Given the description of an element on the screen output the (x, y) to click on. 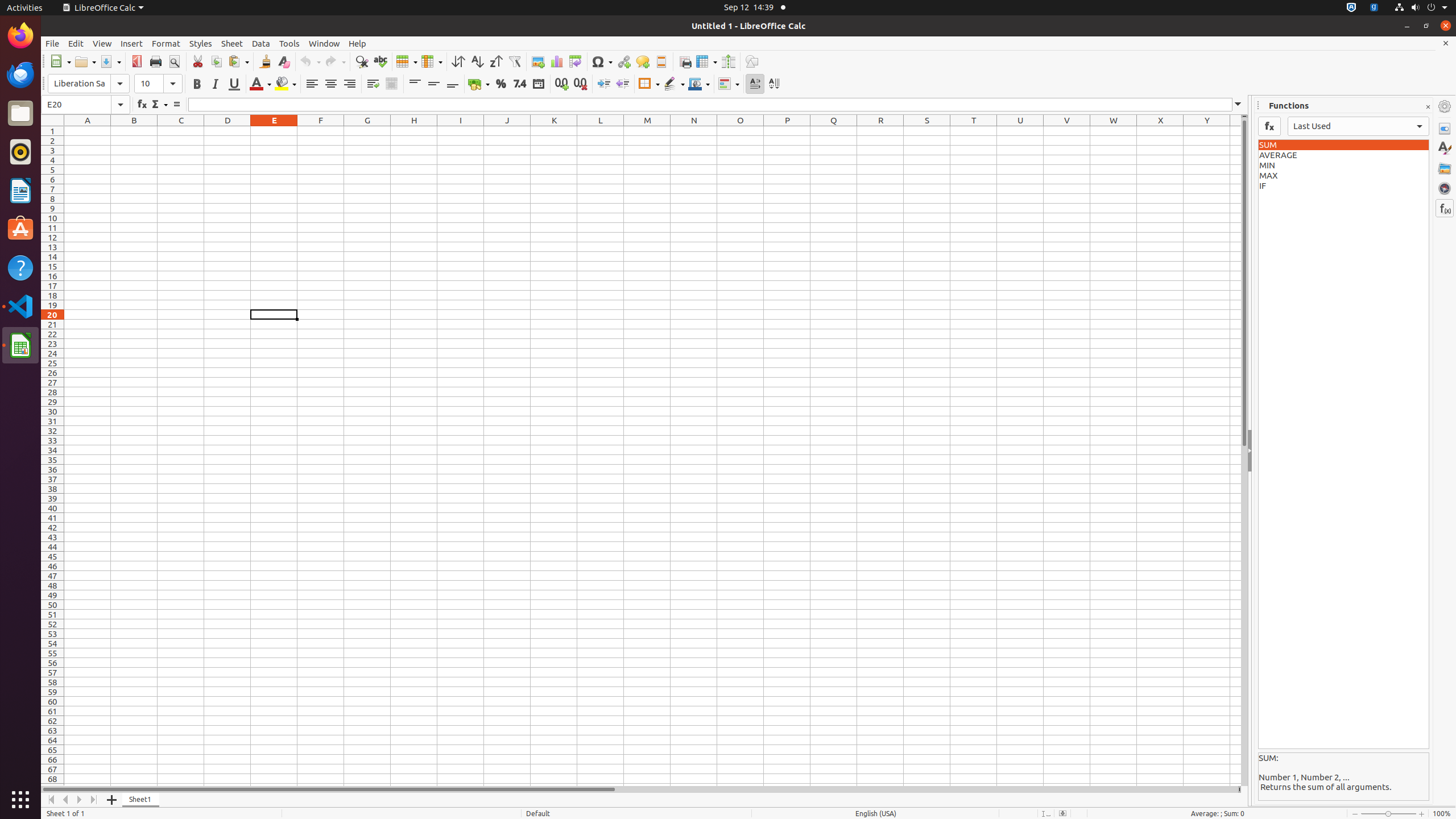
K1 Element type: table-cell (553, 130)
Paste Element type: push-button (237, 61)
Add Decimal Place Element type: push-button (561, 83)
Bold Element type: toggle-button (196, 83)
Pivot Table Element type: push-button (574, 61)
